Given the description of an element on the screen output the (x, y) to click on. 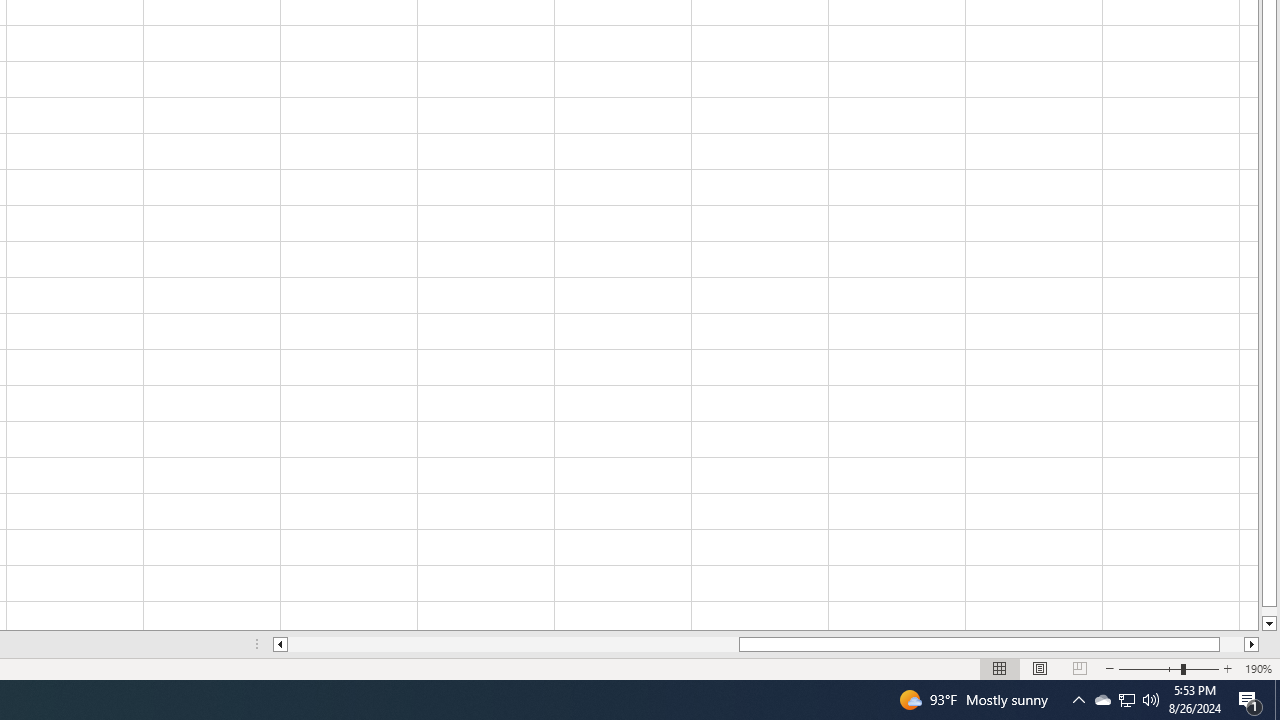
Normal (1000, 668)
Class: NetUIScrollBar (765, 644)
Page Break Preview (1079, 668)
Page left (513, 644)
Column left (279, 644)
Page down (1268, 611)
Line down (1268, 624)
Zoom In (1227, 668)
Page right (1231, 644)
Page Layout (1039, 668)
Column right (1252, 644)
Zoom (1168, 668)
Zoom Out (1149, 668)
